Given the description of an element on the screen output the (x, y) to click on. 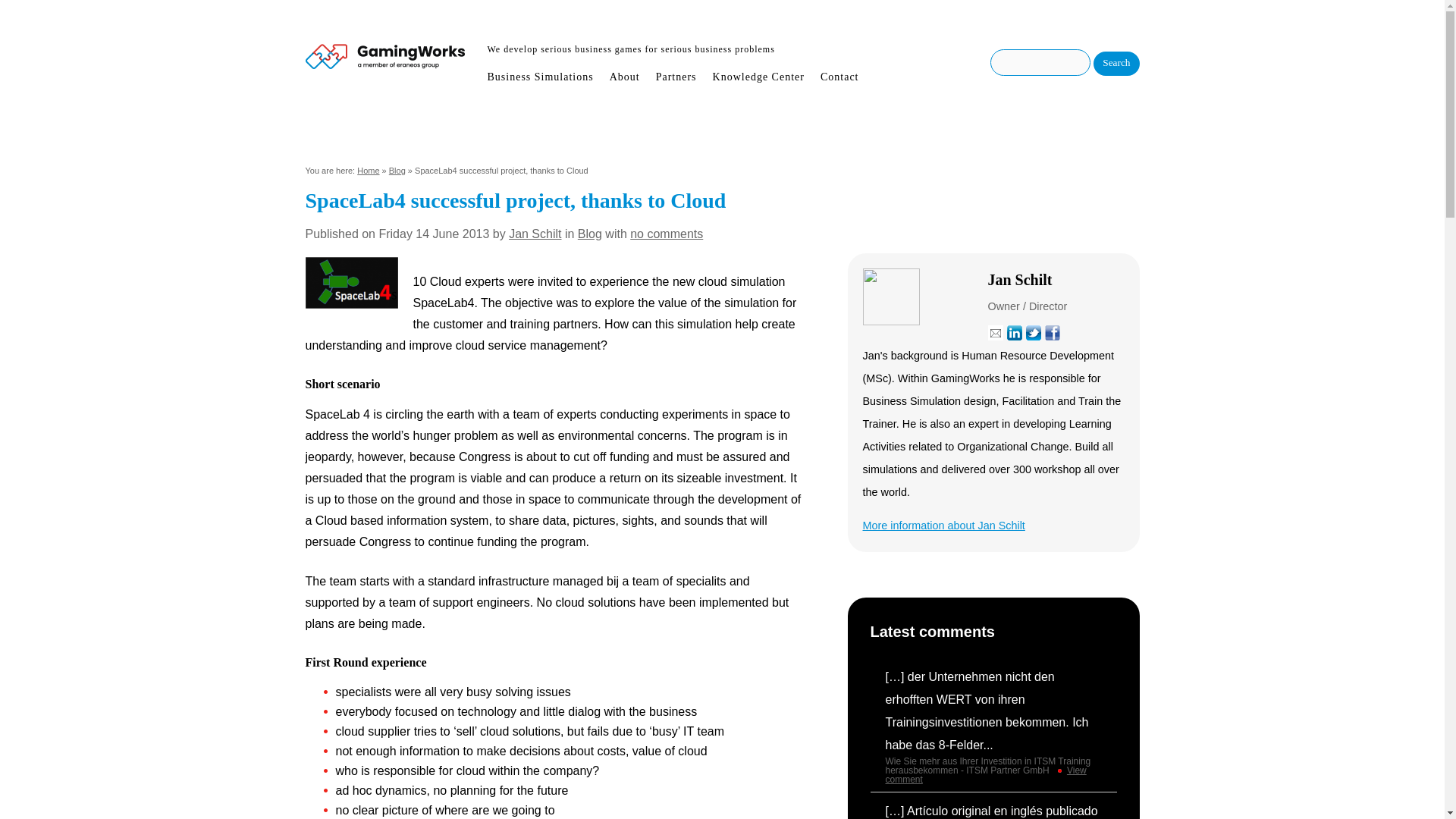
Facebook-profile from Jan Schilt (1052, 332)
About (625, 74)
Jan Schilt (534, 233)
Knowledge Center (758, 74)
More information about Jan Schilt (944, 525)
Business Simulations (542, 74)
no comments (666, 233)
Partners (676, 74)
GamingWorks (384, 60)
Posts by Jan Schilt (534, 233)
Search (1115, 63)
LinkedIn-profile from Jan Schilt (1014, 332)
Blog (590, 233)
Search (1115, 63)
Mail Jan Schilt (995, 332)
